Given the description of an element on the screen output the (x, y) to click on. 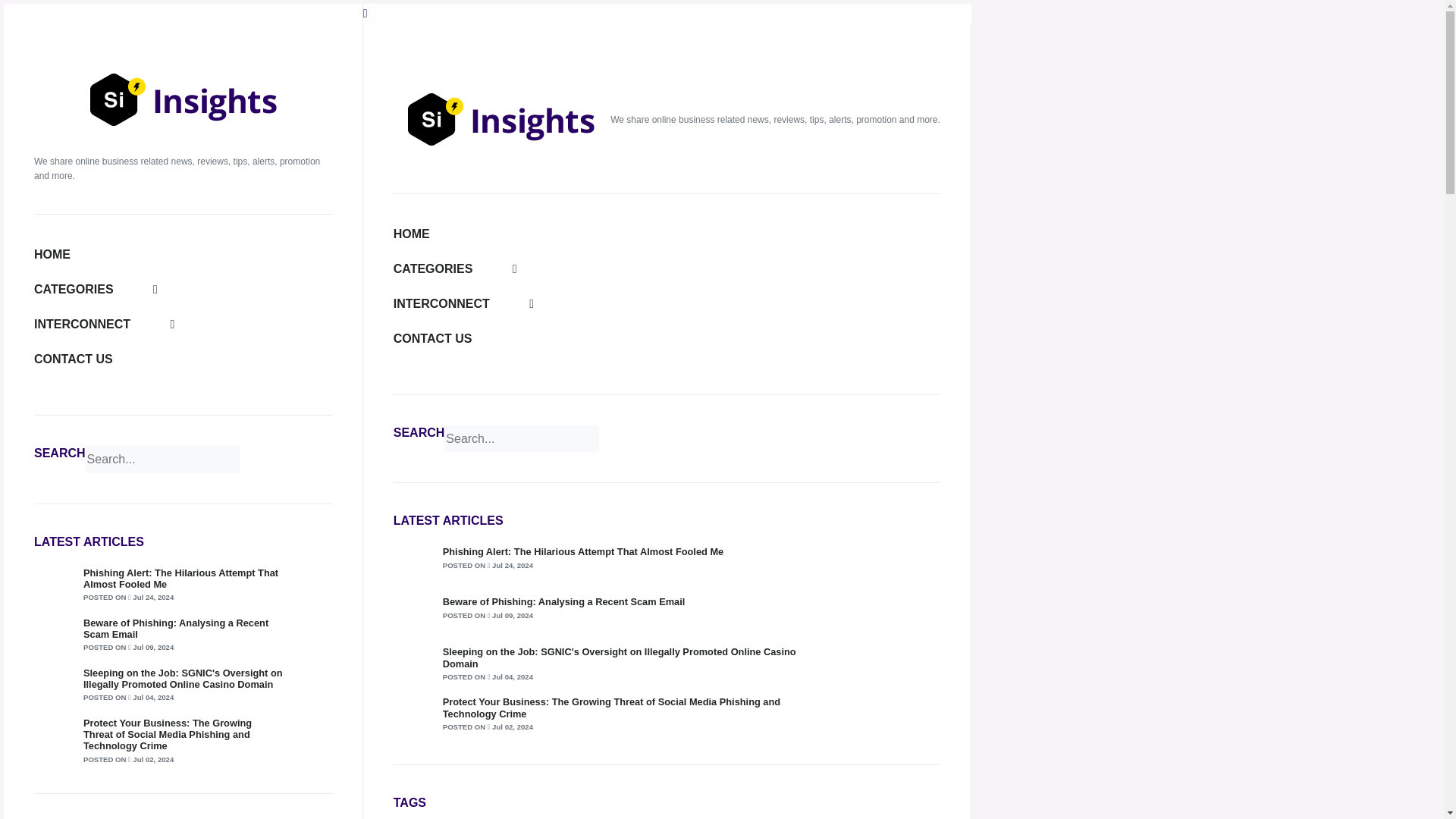
HOME (51, 254)
INTERCONNECT (463, 303)
INTERCONNECT (103, 323)
CATEGORIES (95, 288)
CATEGORIES (454, 268)
CONTACT US (73, 358)
HOME (411, 233)
